Given the description of an element on the screen output the (x, y) to click on. 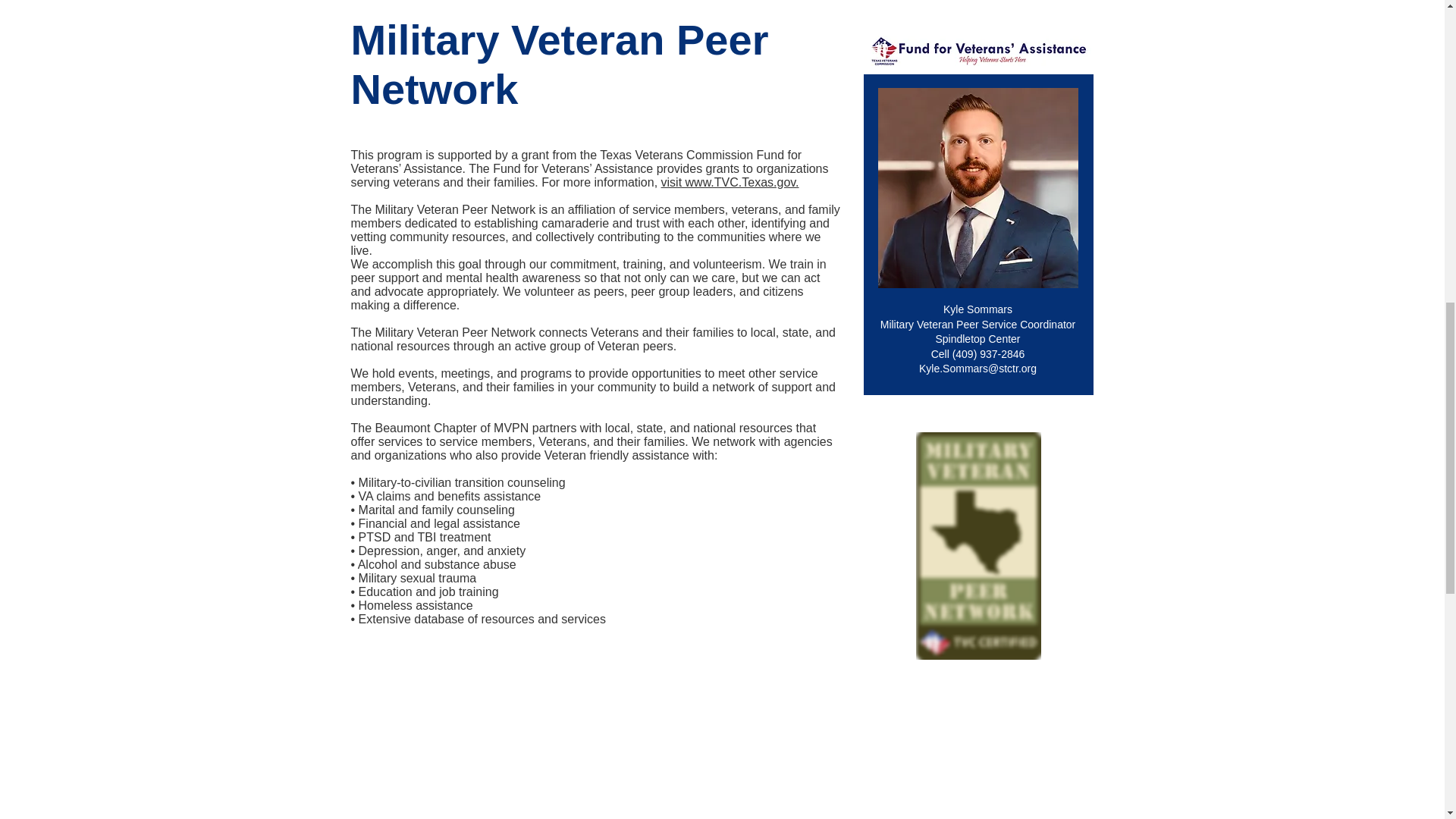
visit www.TVC.Texas.gov. (730, 182)
